Given the description of an element on the screen output the (x, y) to click on. 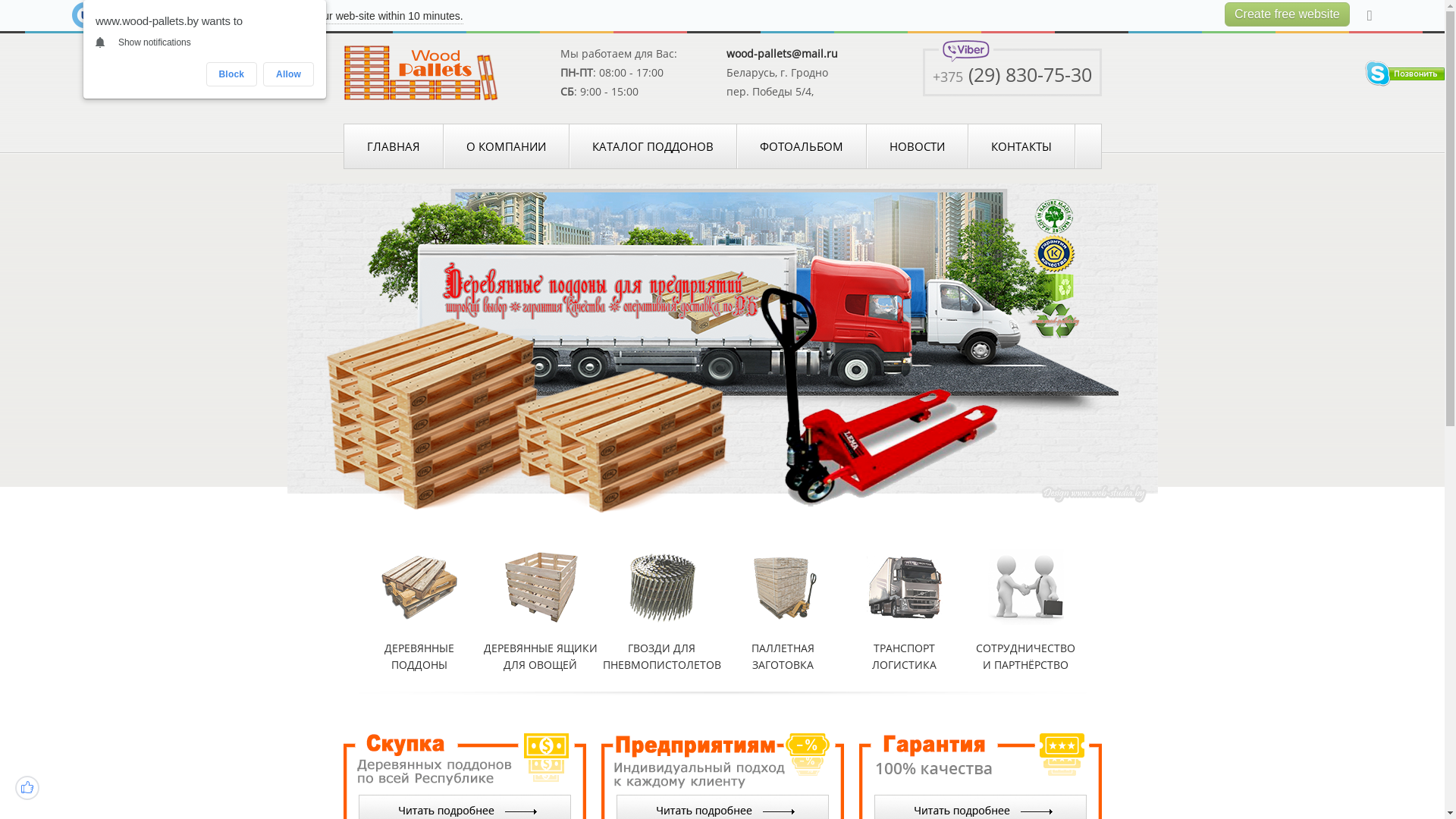
Allow Element type: text (288, 74)
wood-pallets@mail.ru Element type: text (781, 53)
Block Element type: text (231, 74)
